Given the description of an element on the screen output the (x, y) to click on. 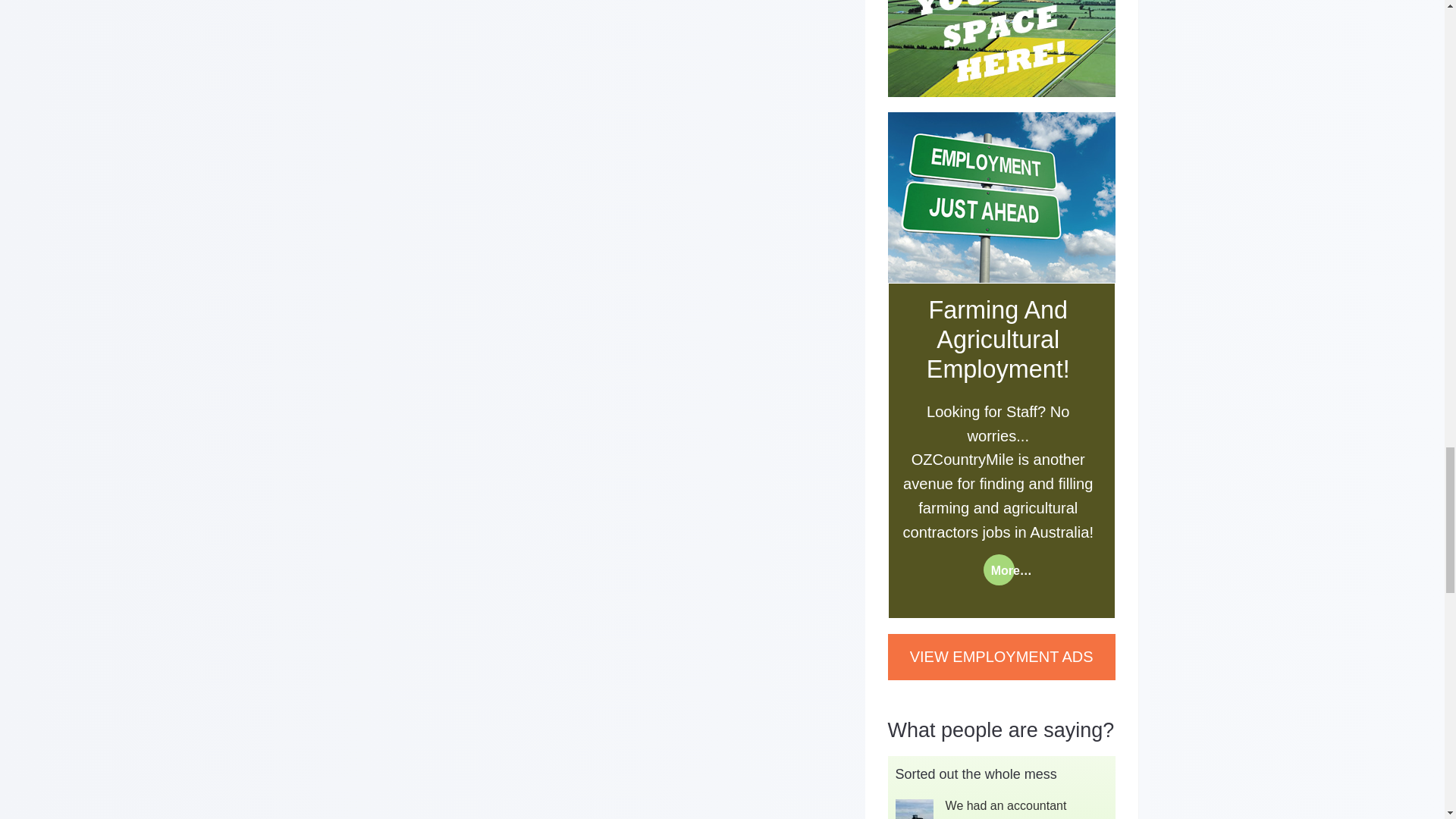
More... (999, 569)
